Given the description of an element on the screen output the (x, y) to click on. 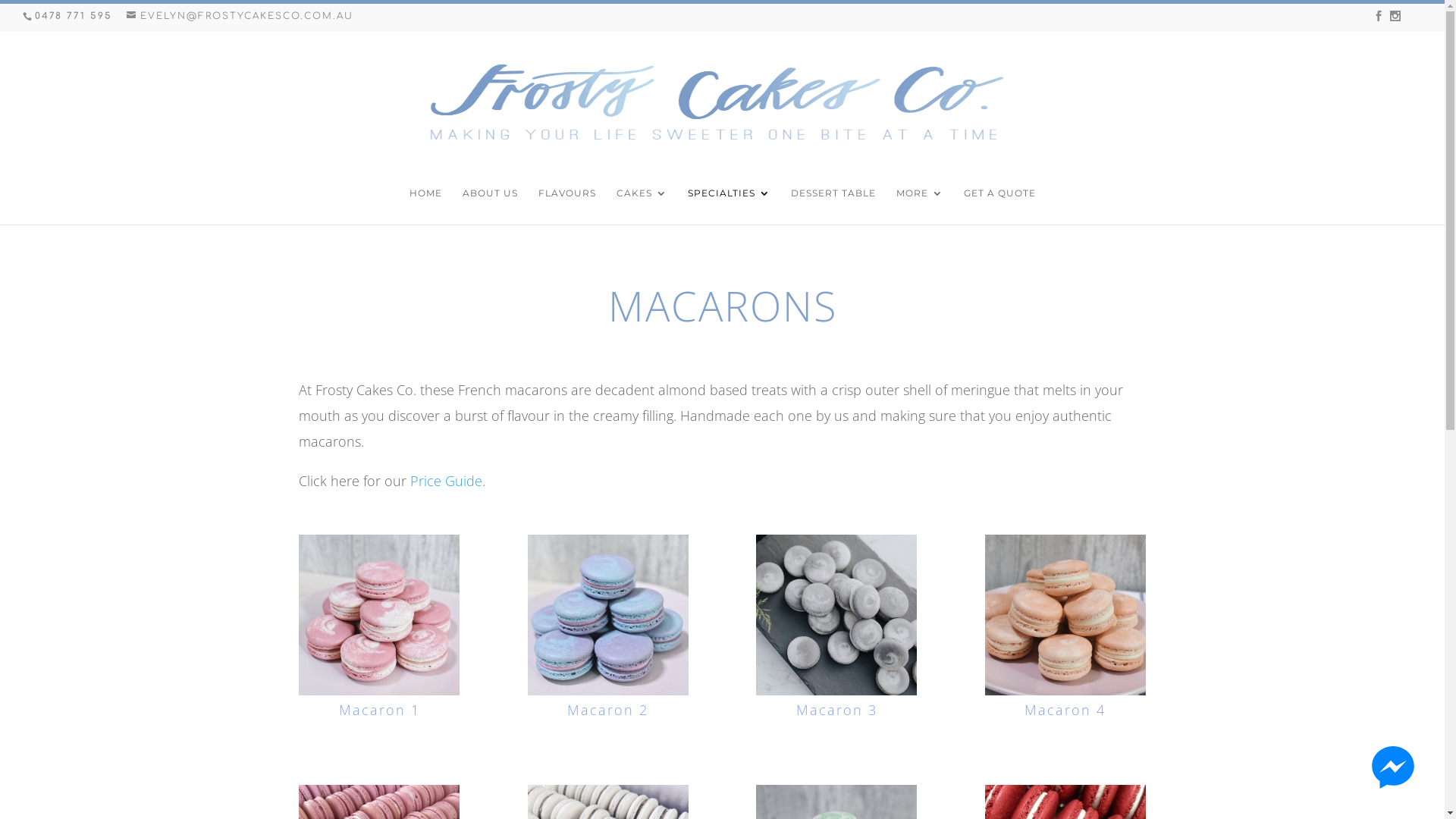
MORE Element type: text (919, 206)
GET A QUOTE Element type: text (999, 206)
FLAVOURS Element type: text (567, 206)
SPECIALTIES Element type: text (728, 206)
EVELYN@FROSTYCAKESCO.COM.AU Element type: text (239, 15)
HOME Element type: text (425, 206)
CAKES Element type: text (640, 206)
ABOUT US Element type: text (489, 206)
DESSERT TABLE Element type: text (832, 206)
Price Guide Element type: text (446, 480)
